Given the description of an element on the screen output the (x, y) to click on. 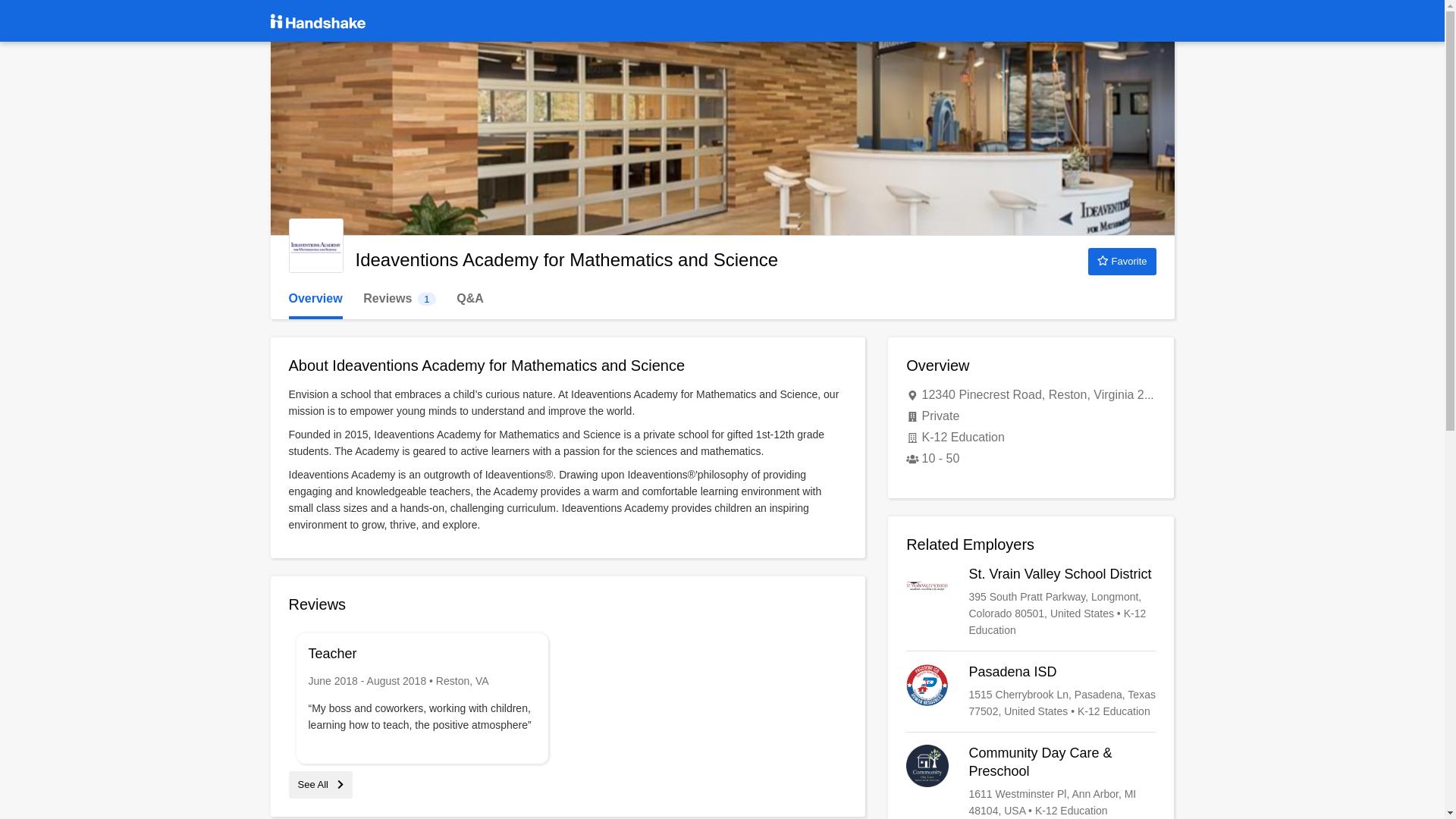
St. Vrain Valley School District (1030, 601)
Pasadena ISD (1030, 691)
See All (320, 784)
Overview (398, 298)
Ideaventions Academy for Mathematics and Science (315, 298)
Favorite (315, 245)
